Given the description of an element on the screen output the (x, y) to click on. 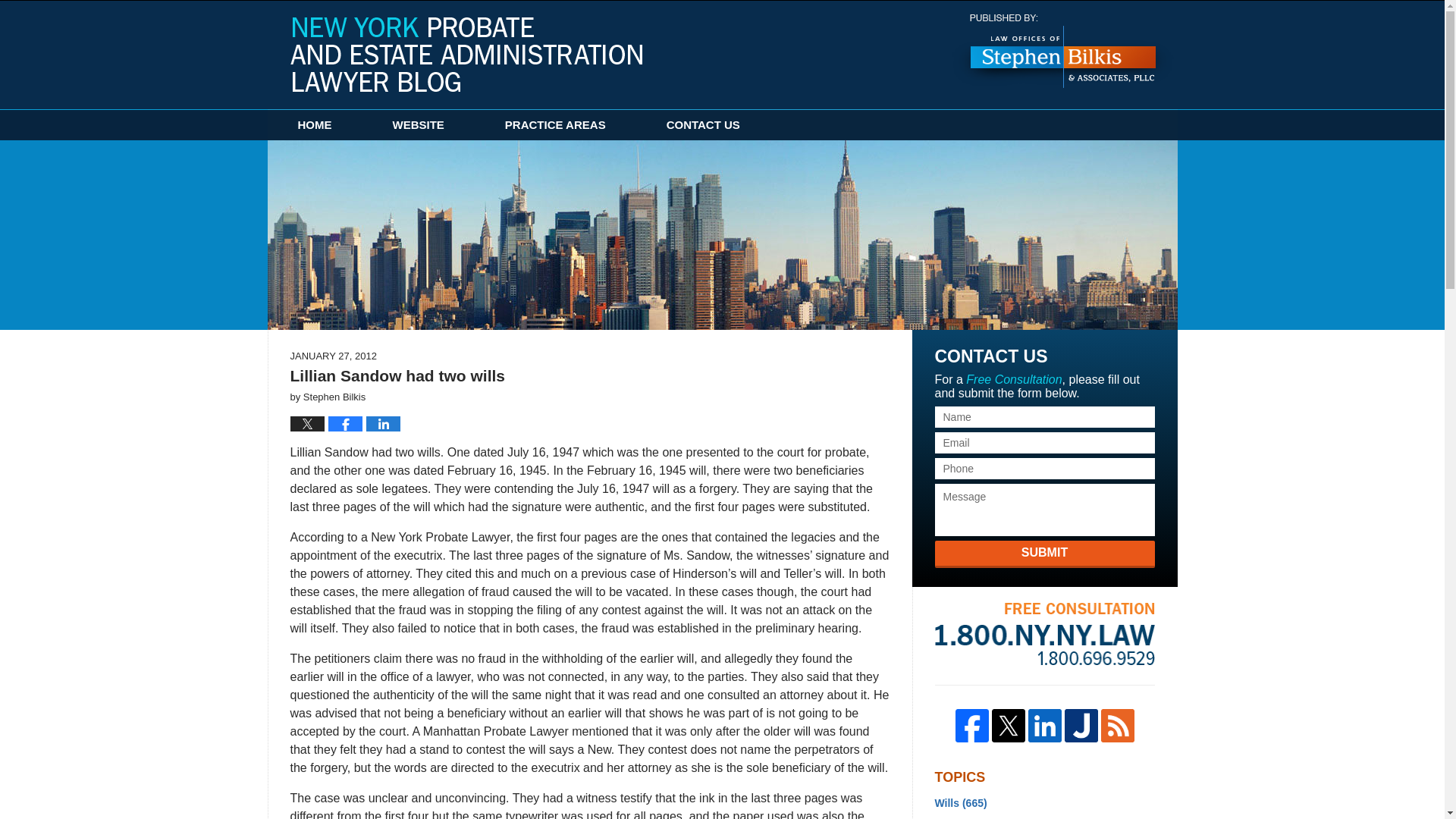
CONTACT US (703, 124)
Feed (1117, 725)
Facebook (971, 725)
Please enter a valid phone number. (1044, 468)
New York Probate and Estate Administration Lawyer Blog (465, 54)
SUBMIT (1044, 554)
PRACTICE AREAS (555, 124)
WEBSITE (418, 124)
LinkedIn (1044, 725)
Justia (1080, 725)
